Given the description of an element on the screen output the (x, y) to click on. 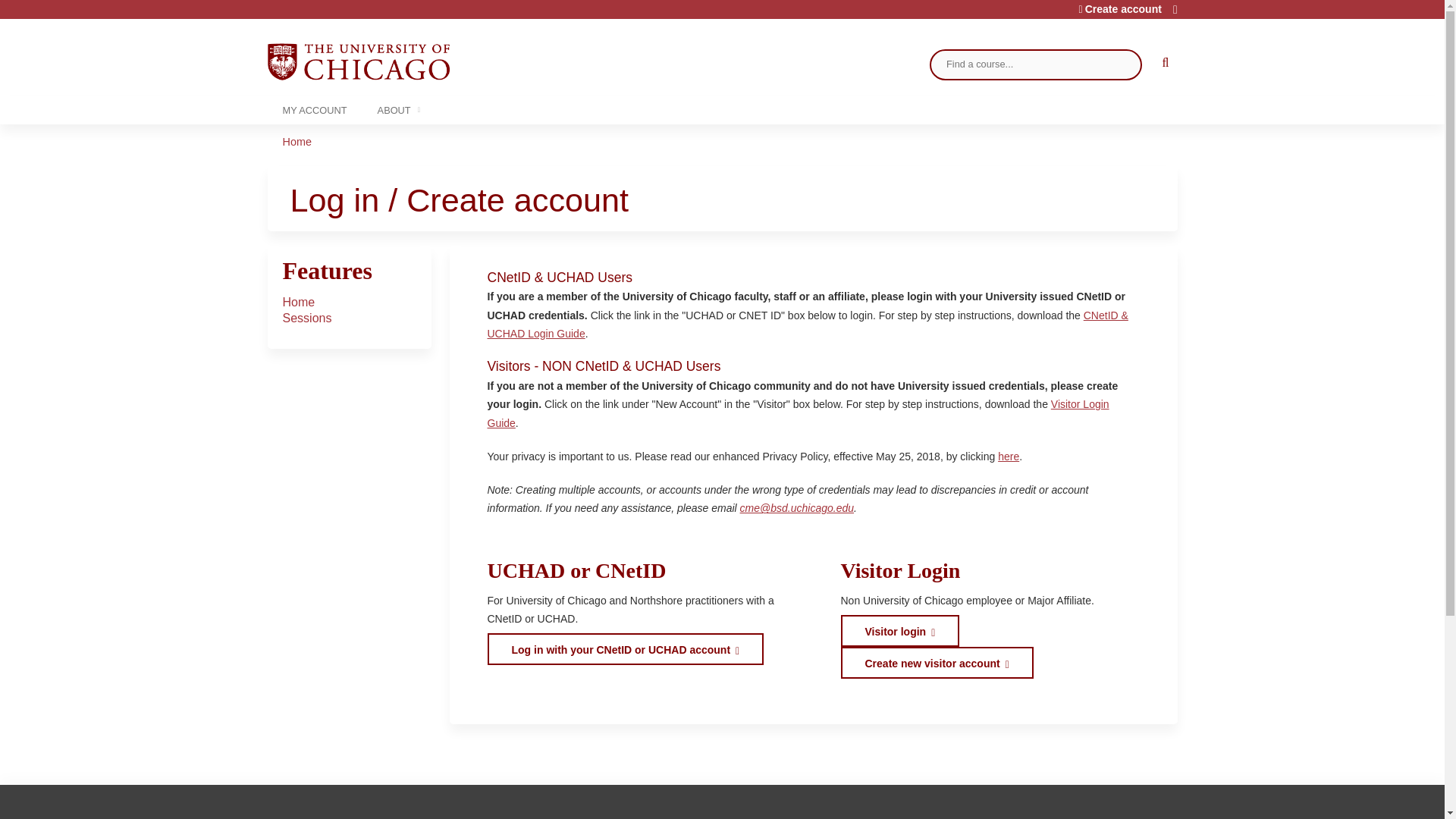
Cart (1175, 14)
here (1008, 456)
Create account (1119, 9)
Home (296, 141)
Create new visitor account (936, 662)
ABOUT (395, 110)
Visitor Login Guide (797, 413)
Search (1161, 63)
Search (1161, 63)
MY ACCOUNT (313, 110)
Home (357, 61)
Log in with your CNetID or UCHAD account (624, 649)
Visitor login (899, 631)
